Given the description of an element on the screen output the (x, y) to click on. 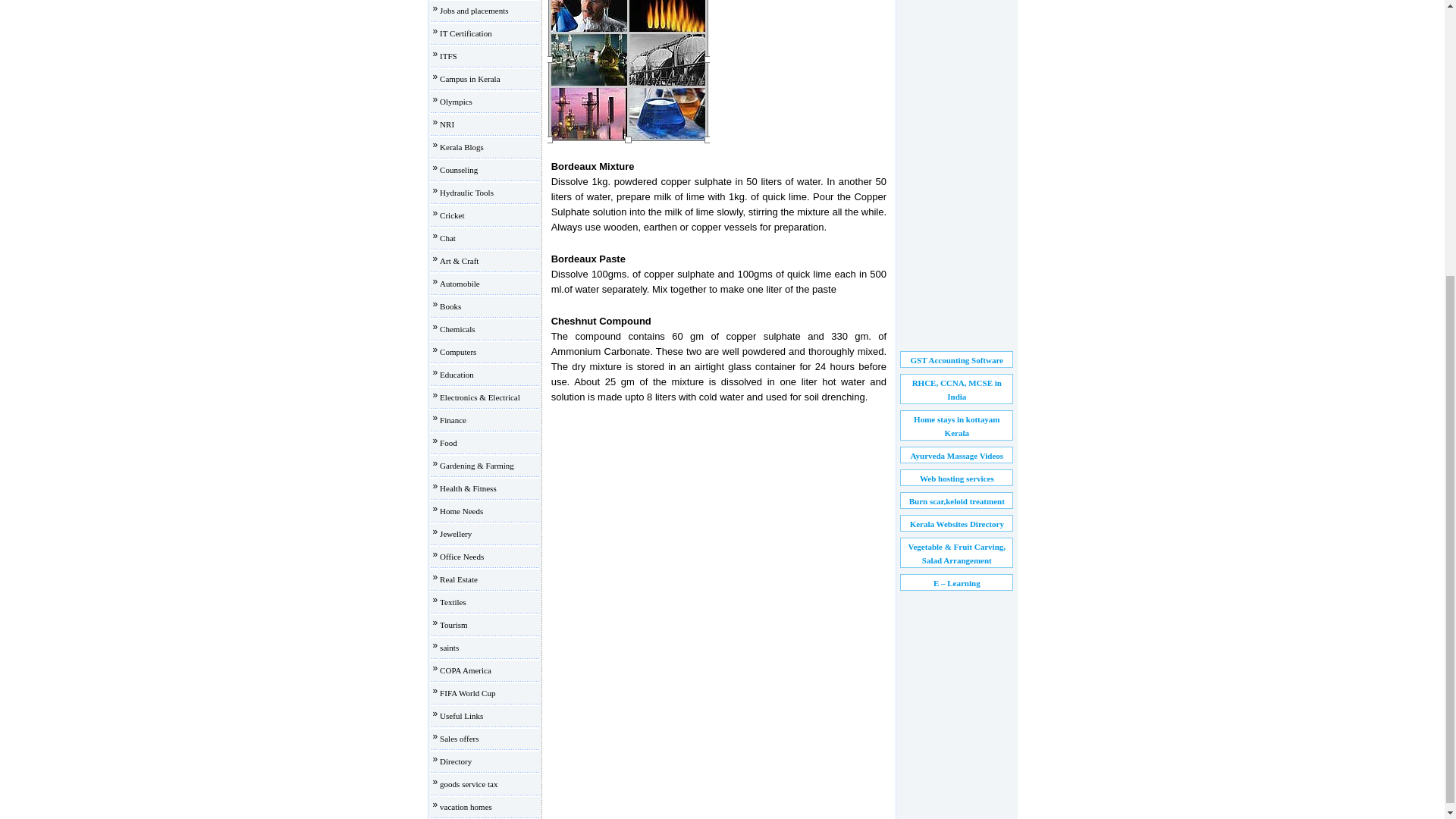
IT Certification (465, 32)
Cricket (451, 215)
Books (450, 306)
web hosting services (957, 478)
Education (456, 374)
Automobile (459, 283)
Computers (457, 351)
Home Needs (461, 510)
ITFS (448, 55)
Office Needs (461, 556)
Food (448, 442)
Counseling (458, 169)
Chemicals (456, 328)
Jobs and placements (473, 10)
Campus in Kerala (469, 78)
